Given the description of an element on the screen output the (x, y) to click on. 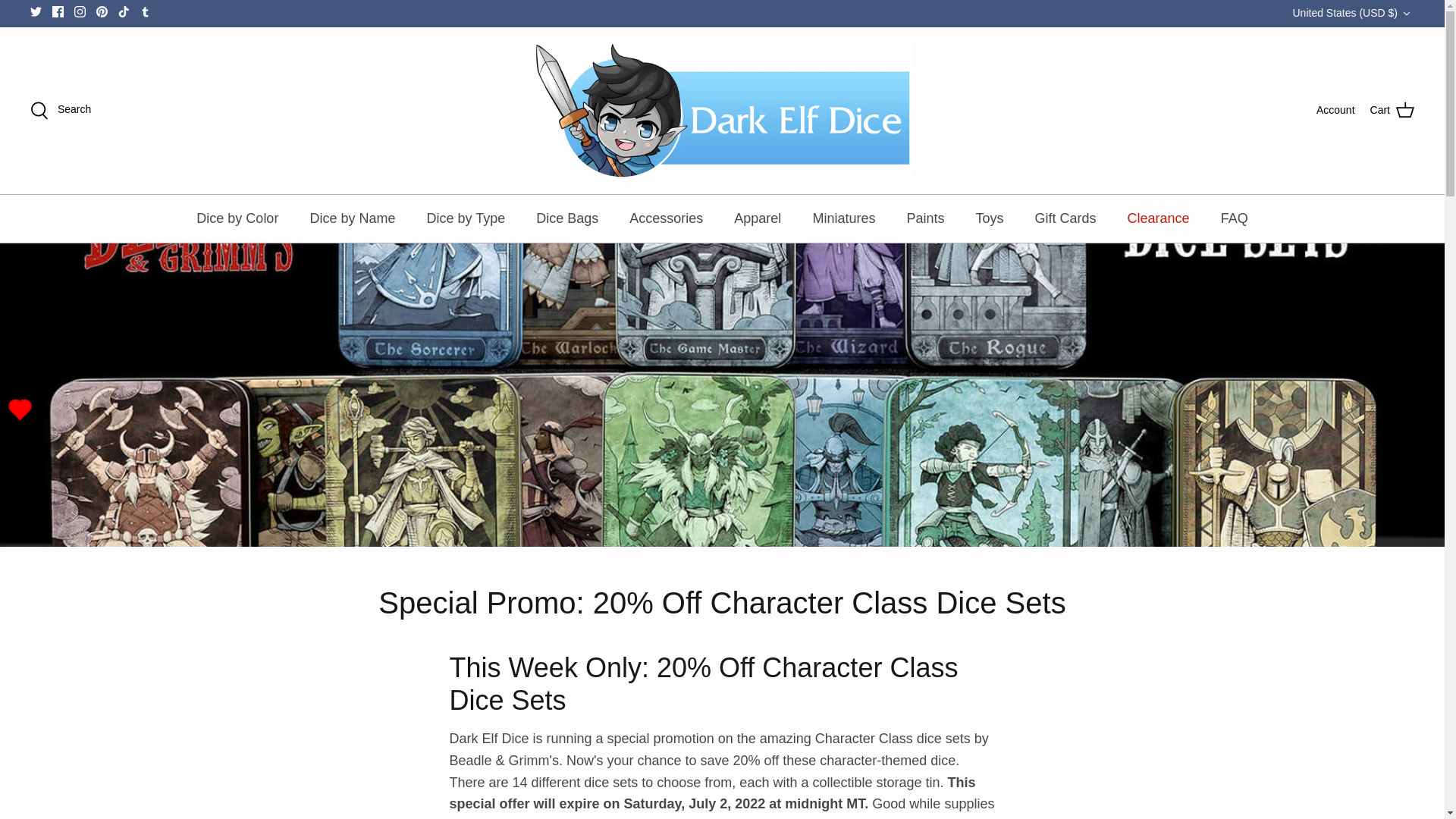
Pinterest (101, 11)
Twitter (36, 11)
Wishlist (19, 409)
Pinterest (101, 11)
Instagram (79, 11)
Dark Elf Dice (721, 110)
Instagram (79, 11)
Twitter (36, 11)
Down (1406, 13)
Facebook (58, 11)
